Given the description of an element on the screen output the (x, y) to click on. 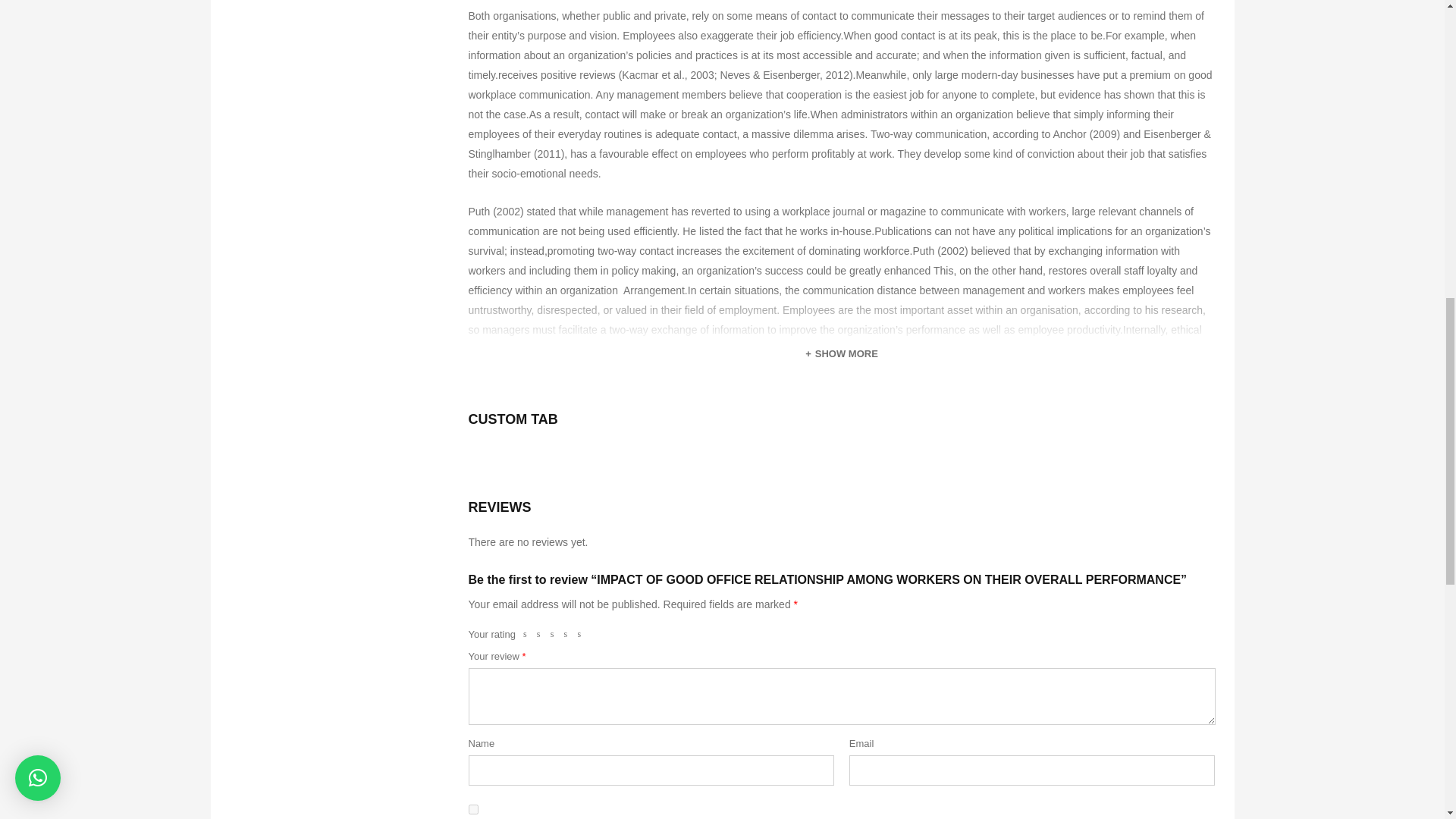
yes (473, 809)
